Given the description of an element on the screen output the (x, y) to click on. 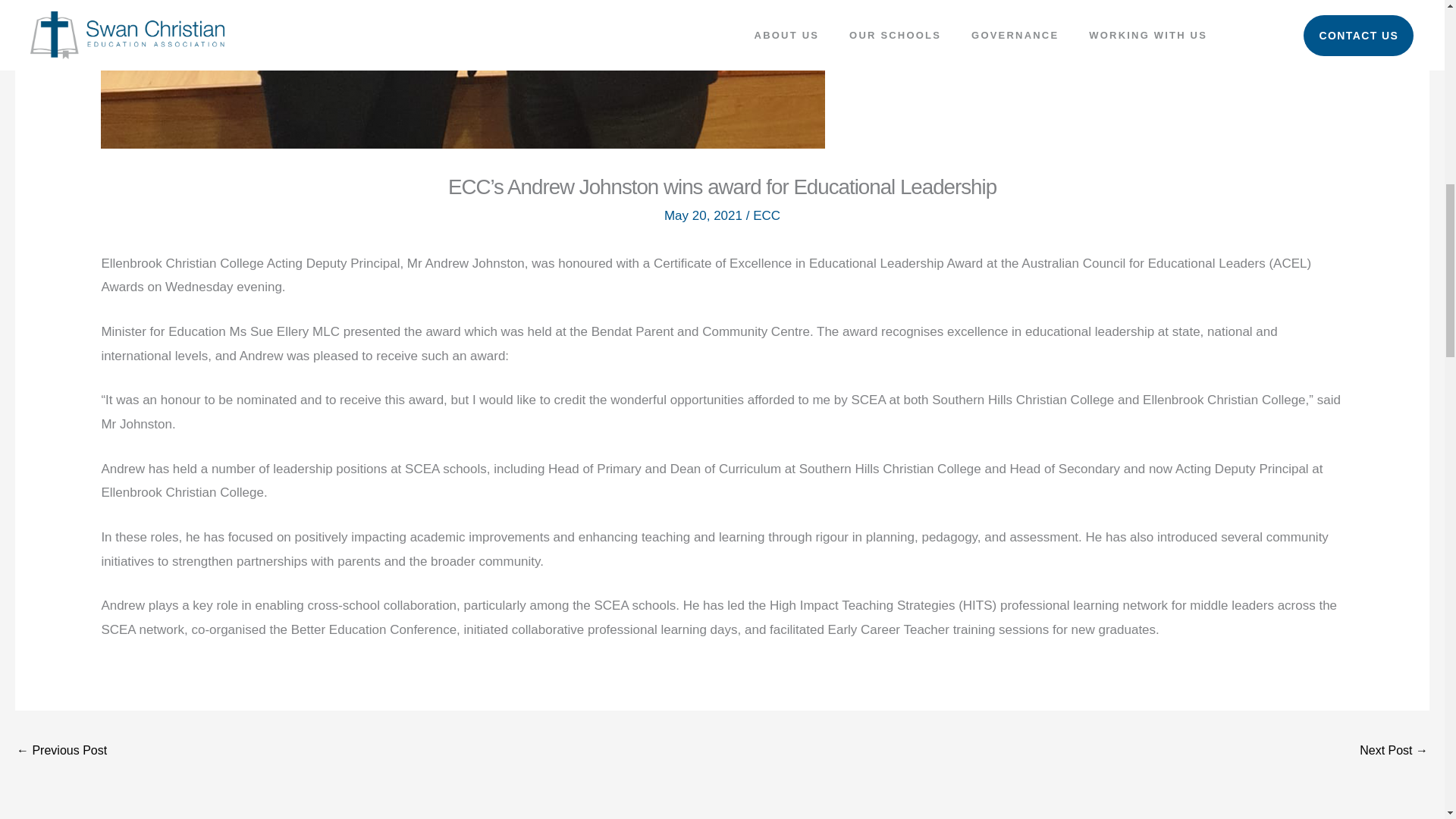
Students from SCEA schools join 'Trade School' for a day (1393, 751)
